Given the description of an element on the screen output the (x, y) to click on. 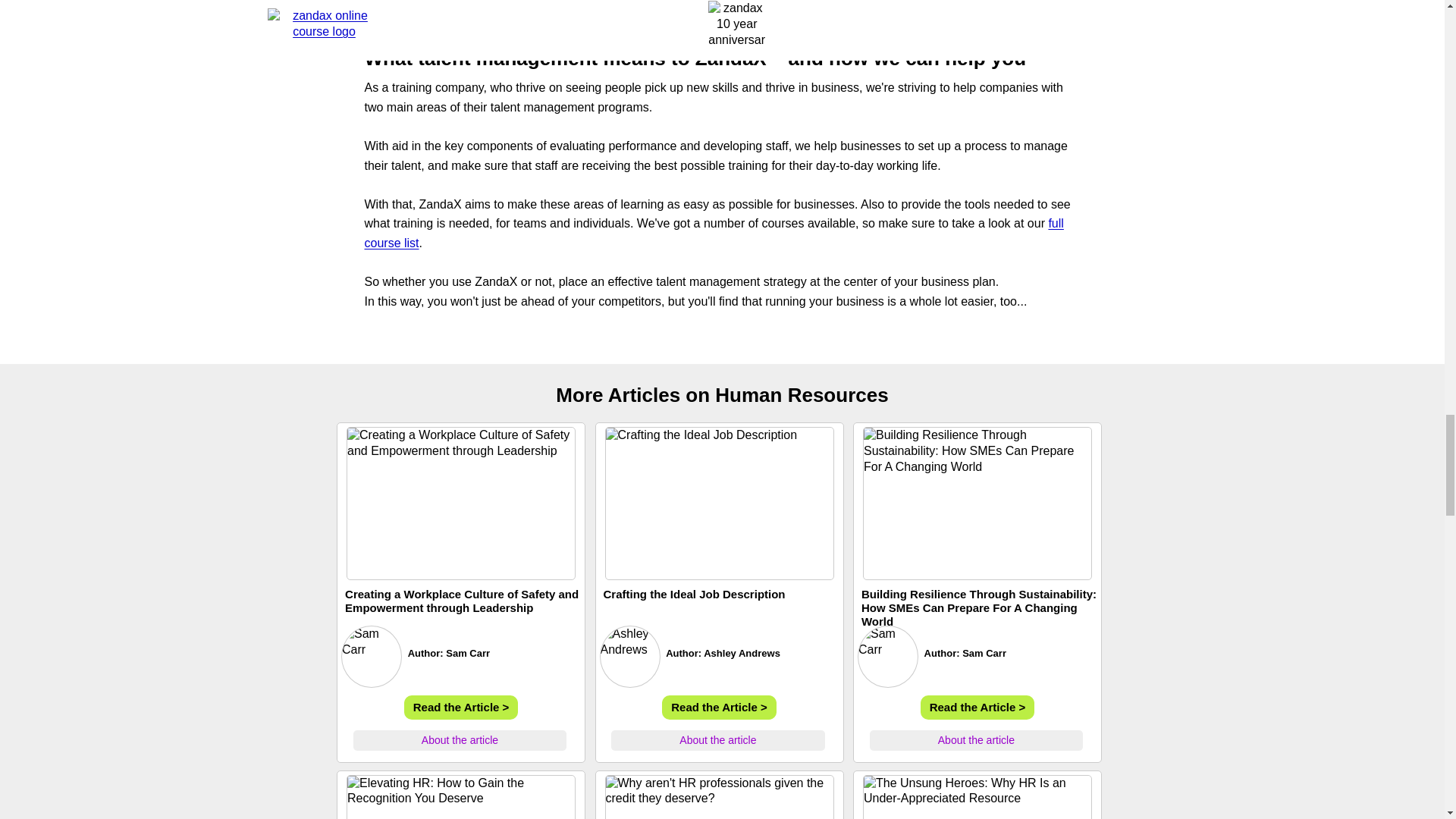
ZandaX course list (713, 233)
full course list (713, 233)
